Given the description of an element on the screen output the (x, y) to click on. 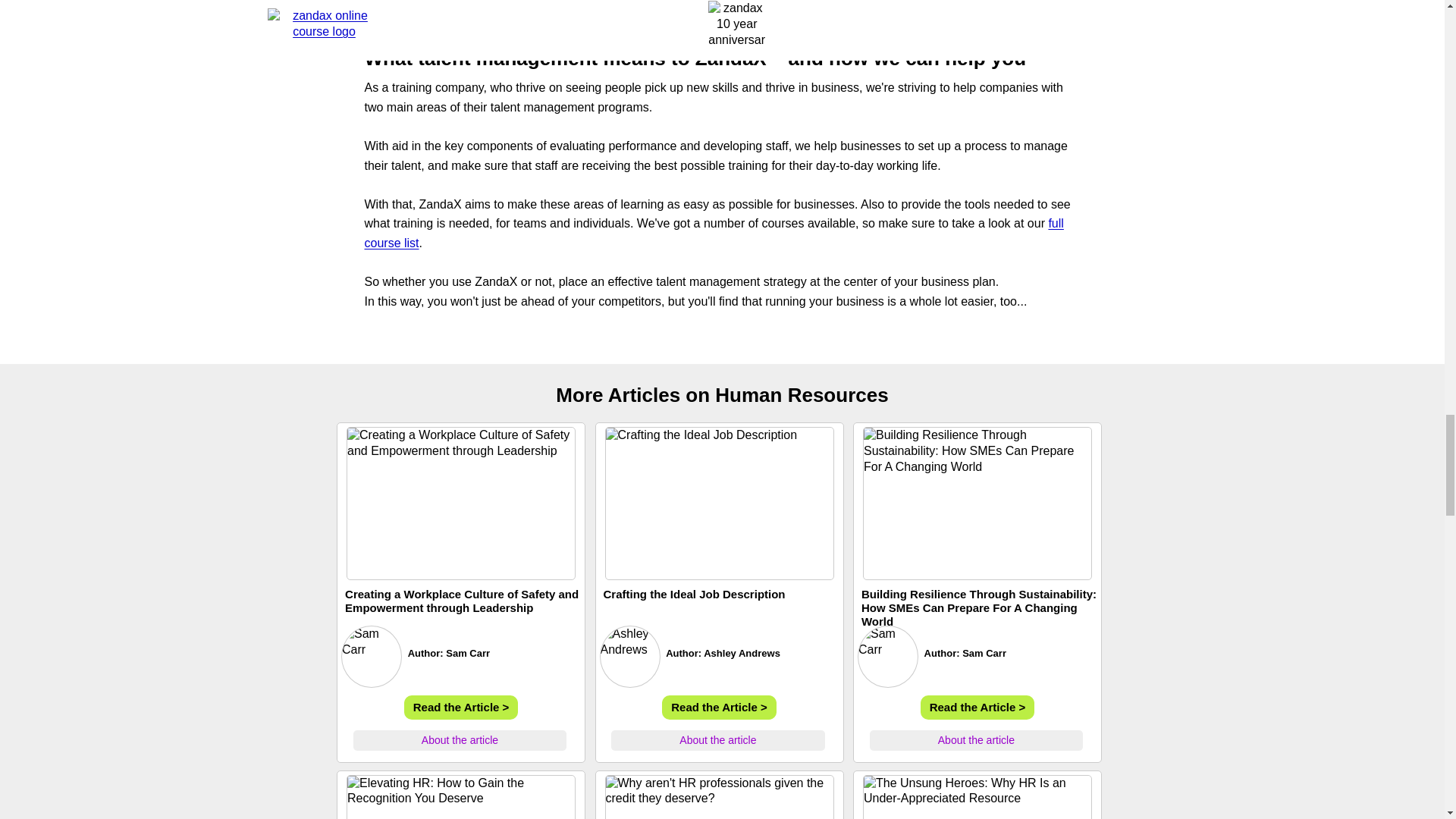
ZandaX course list (713, 233)
full course list (713, 233)
